Given the description of an element on the screen output the (x, y) to click on. 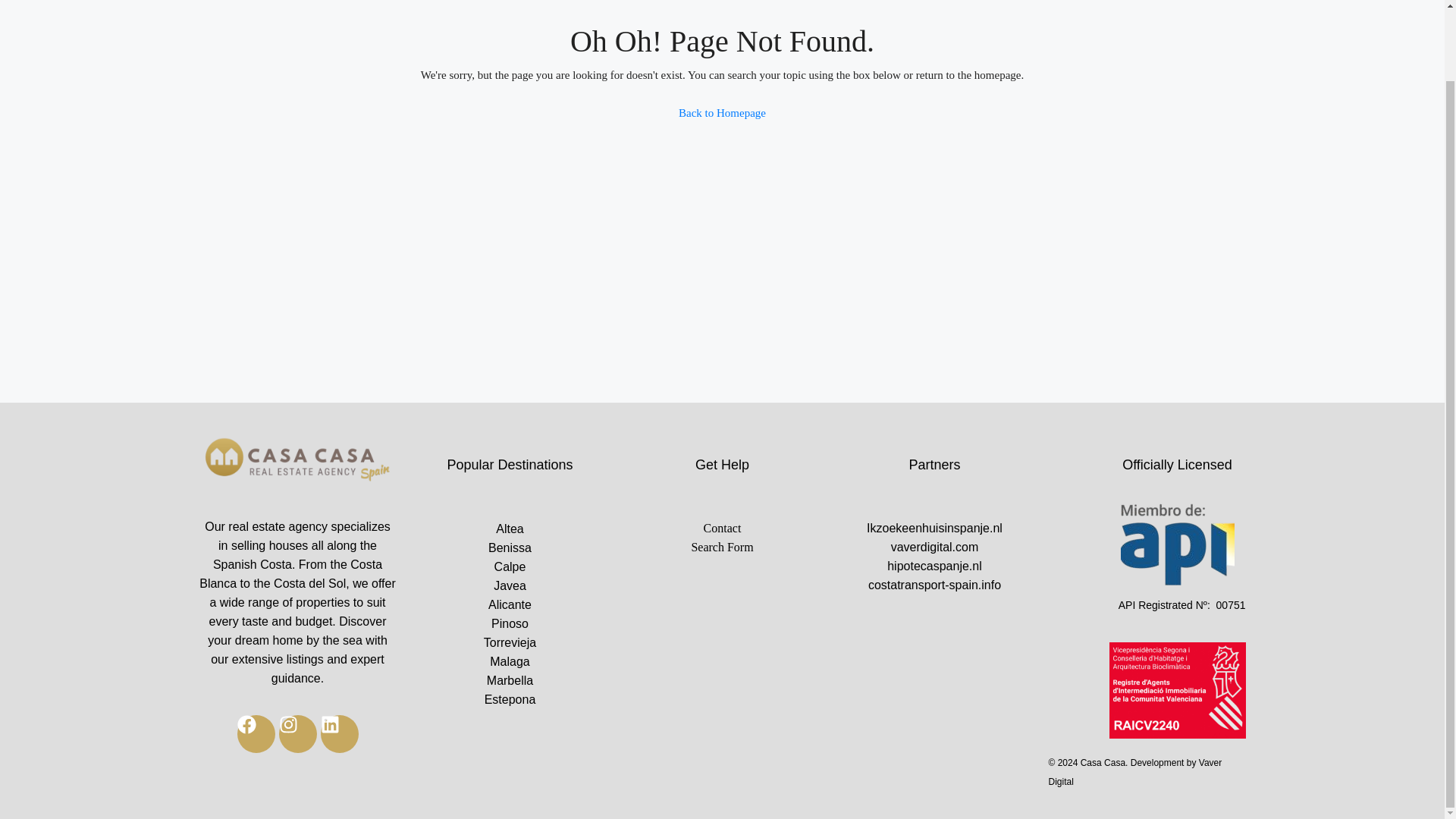
CASA CASA REAL ESTATE TRANSPA (297, 461)
Calpe (509, 566)
Altea (509, 528)
Back to Homepage (721, 112)
Benissa (509, 547)
